Given the description of an element on the screen output the (x, y) to click on. 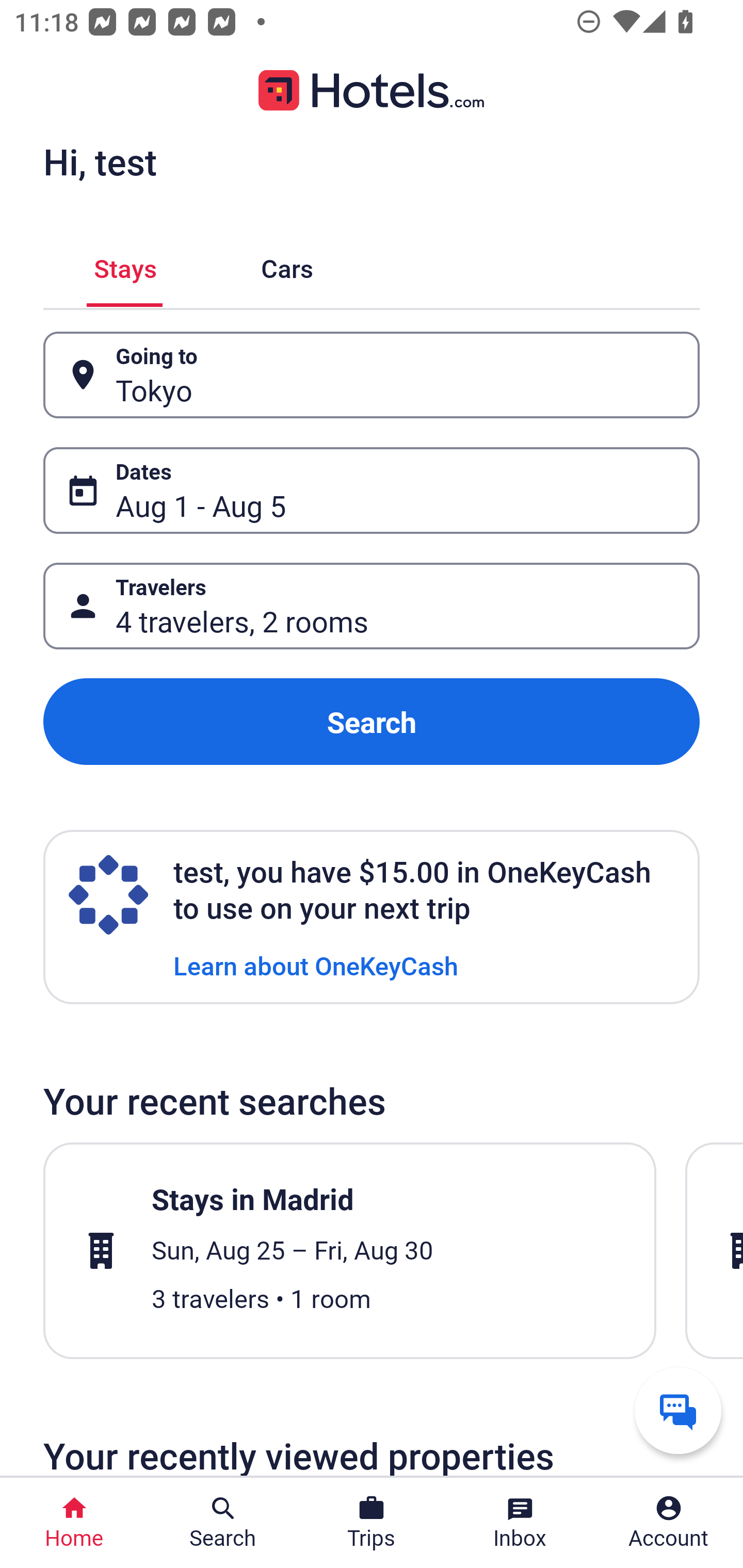
Hi, test (99, 161)
Cars (286, 265)
Going to Button Tokyo (371, 375)
Dates Button Aug 1 - Aug 5 (371, 489)
Travelers Button 4 travelers, 2 rooms (371, 605)
Search (371, 721)
Learn about OneKeyCash Learn about OneKeyCash Link (315, 964)
Get help from a virtual agent (677, 1410)
Search Search Button (222, 1522)
Trips Trips Button (371, 1522)
Inbox Inbox Button (519, 1522)
Account Profile. Button (668, 1522)
